Given the description of an element on the screen output the (x, y) to click on. 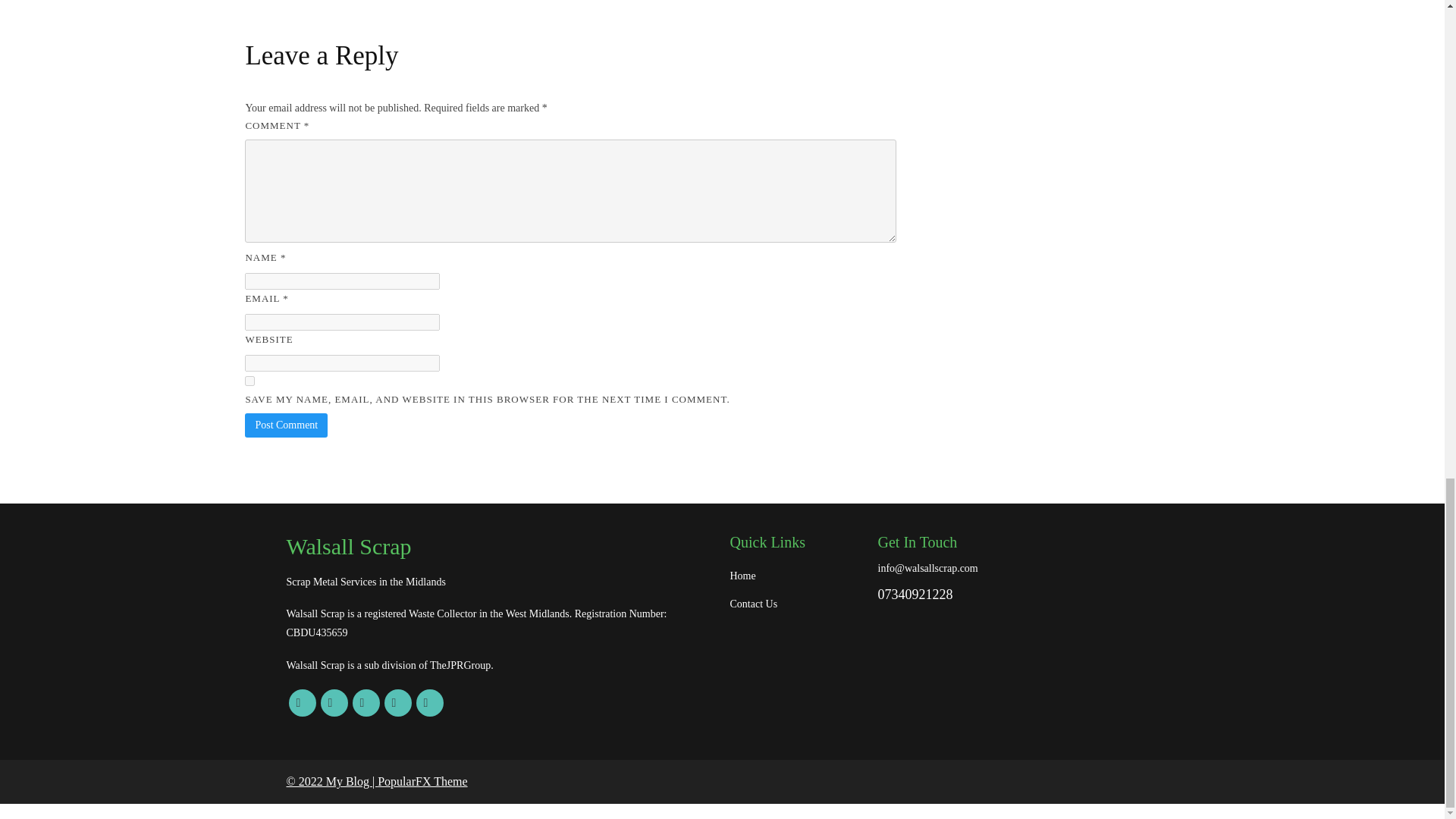
Post Comment (285, 425)
Walsall Scrap (500, 546)
PopularFX Theme (422, 780)
Home (795, 575)
Contact Us (795, 604)
Post Comment (285, 425)
yes (249, 380)
